Given the description of an element on the screen output the (x, y) to click on. 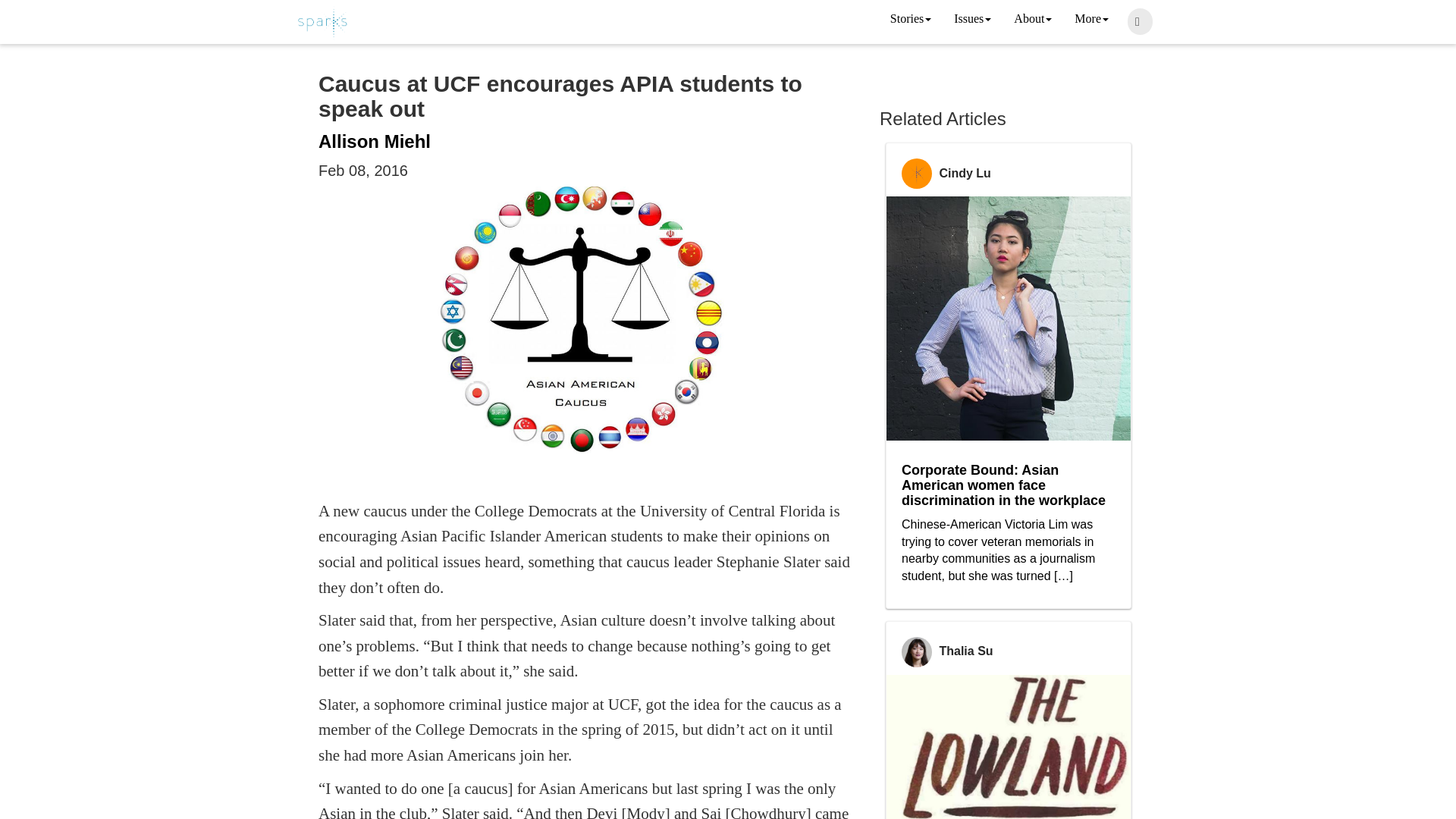
Thalia Su (965, 650)
More (1090, 19)
Issues (972, 19)
Allison Miehl (374, 141)
About (1032, 19)
Stories (910, 19)
Cindy Lu (964, 173)
